Given the description of an element on the screen output the (x, y) to click on. 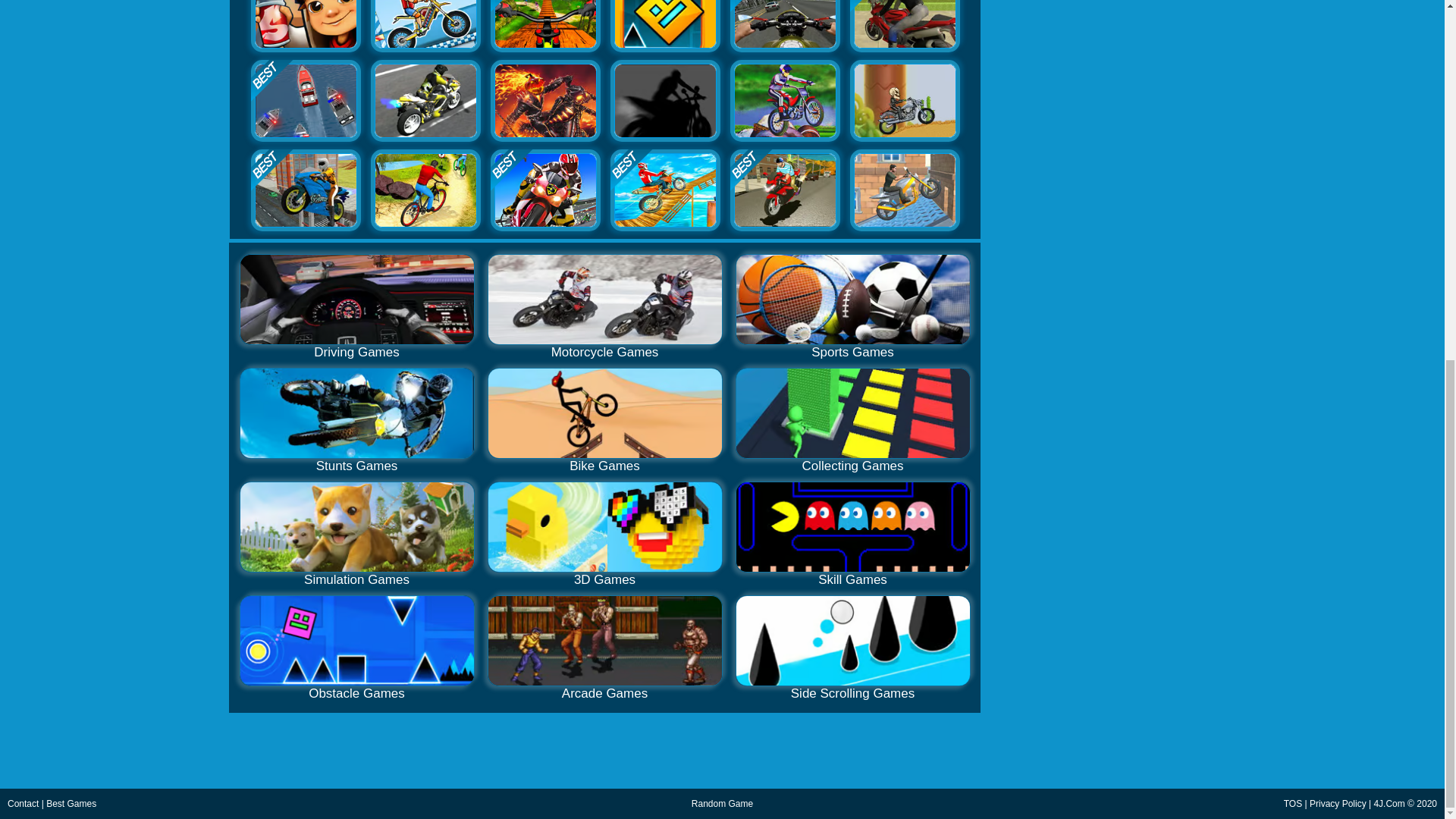
Advertisement (1318, 40)
